Given the description of an element on the screen output the (x, y) to click on. 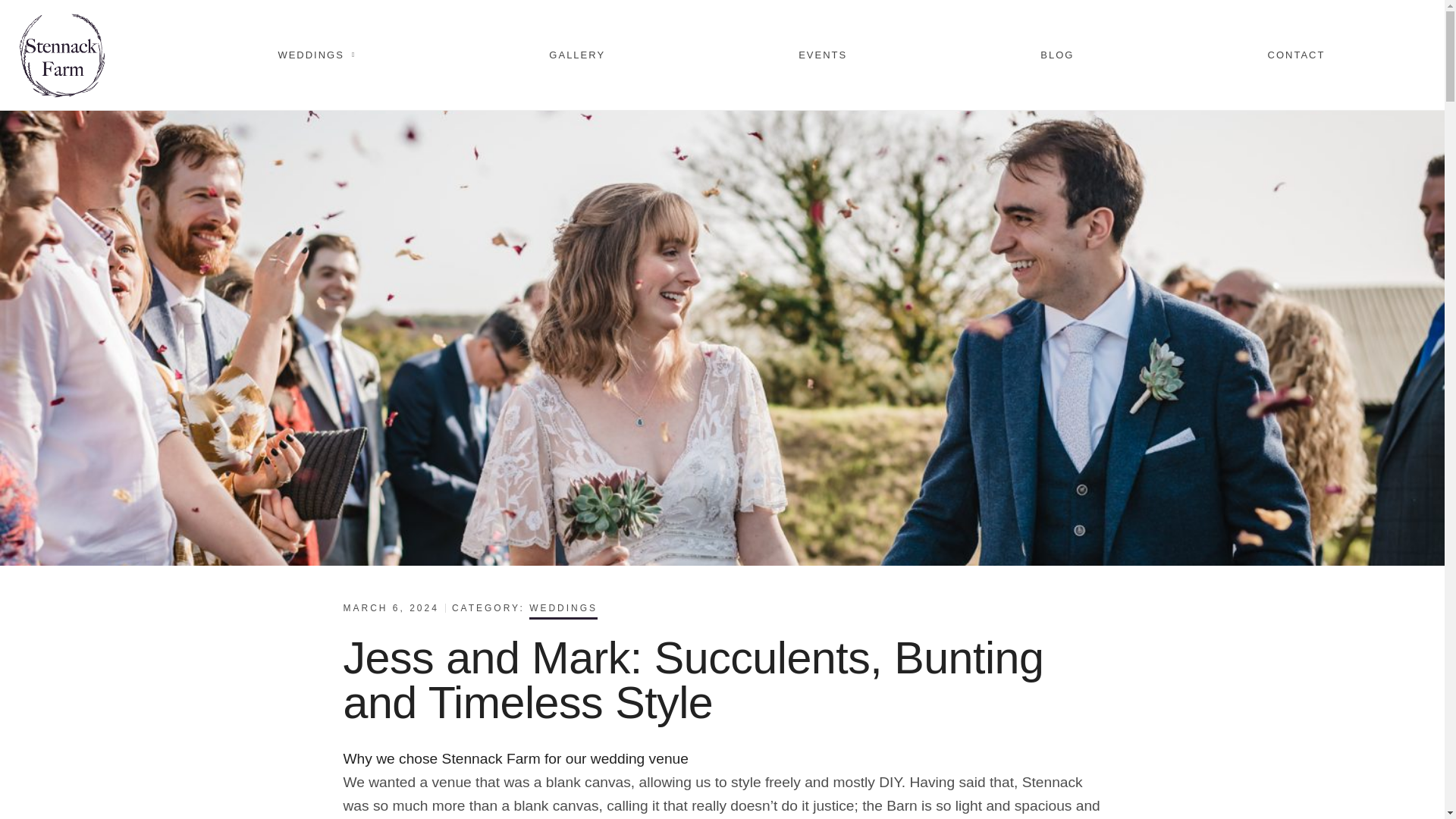
WEDDINGS (316, 54)
CONTACT (1296, 54)
GALLERY (576, 54)
BLOG (1056, 54)
EVENTS (822, 54)
